Given the description of an element on the screen output the (x, y) to click on. 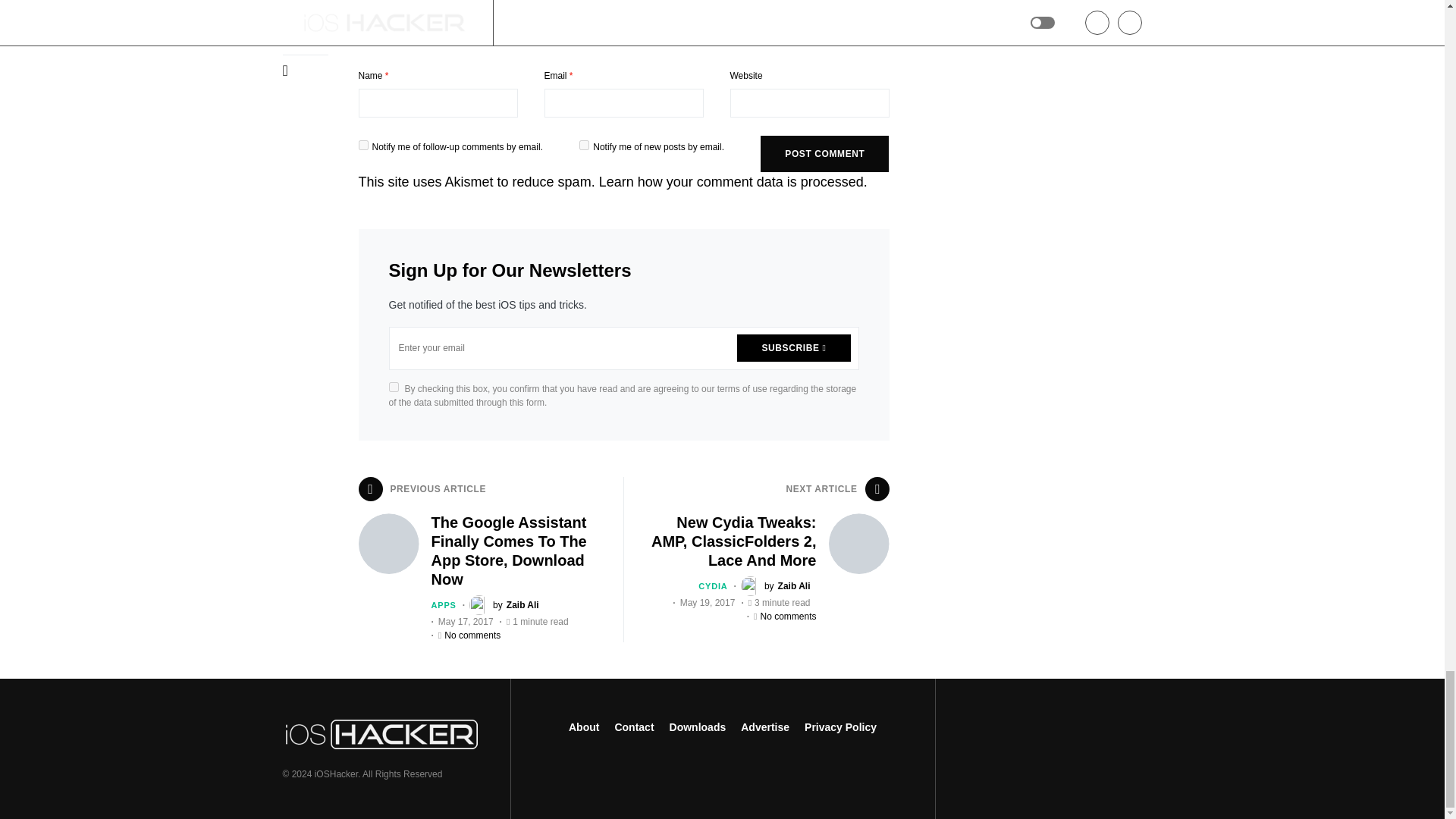
on (392, 387)
View all posts by Zaib Ali (775, 586)
subscribe (584, 144)
View all posts by Zaib Ali (503, 605)
Post Comment (824, 153)
subscribe (363, 144)
